Given the description of an element on the screen output the (x, y) to click on. 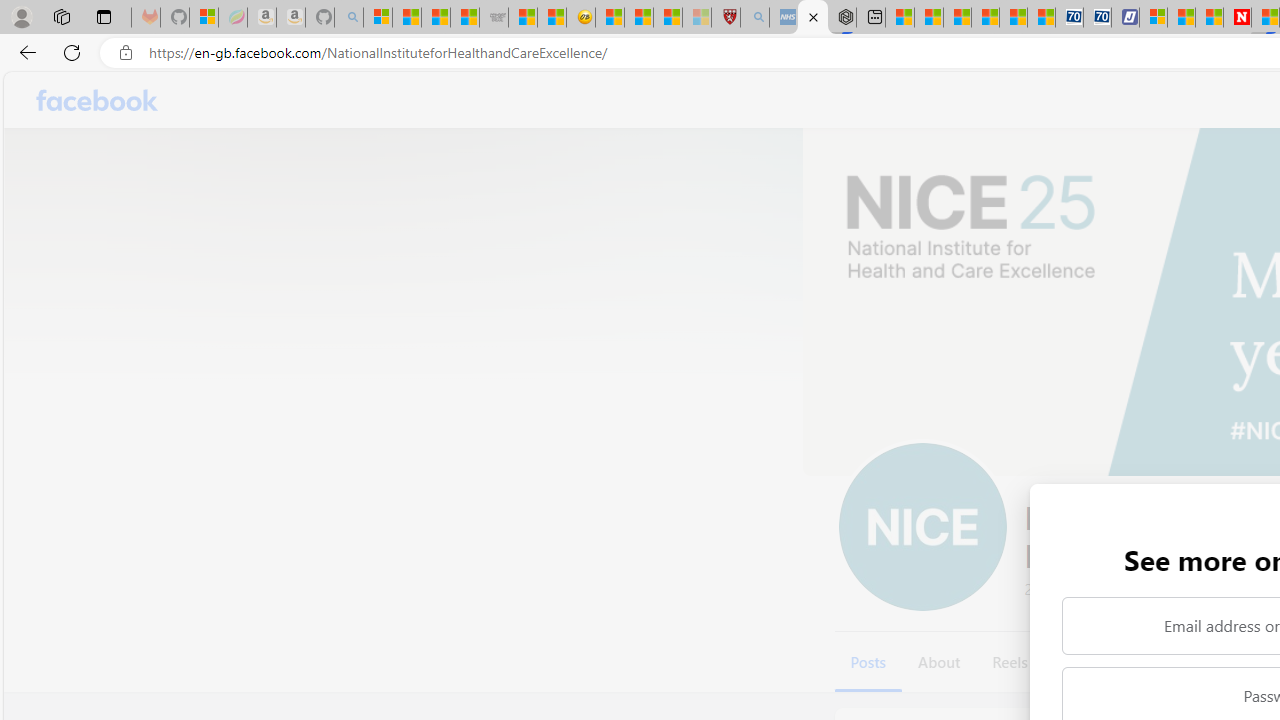
Newsweek - News, Analysis, Politics, Business, Technology (1236, 17)
